Given the description of an element on the screen output the (x, y) to click on. 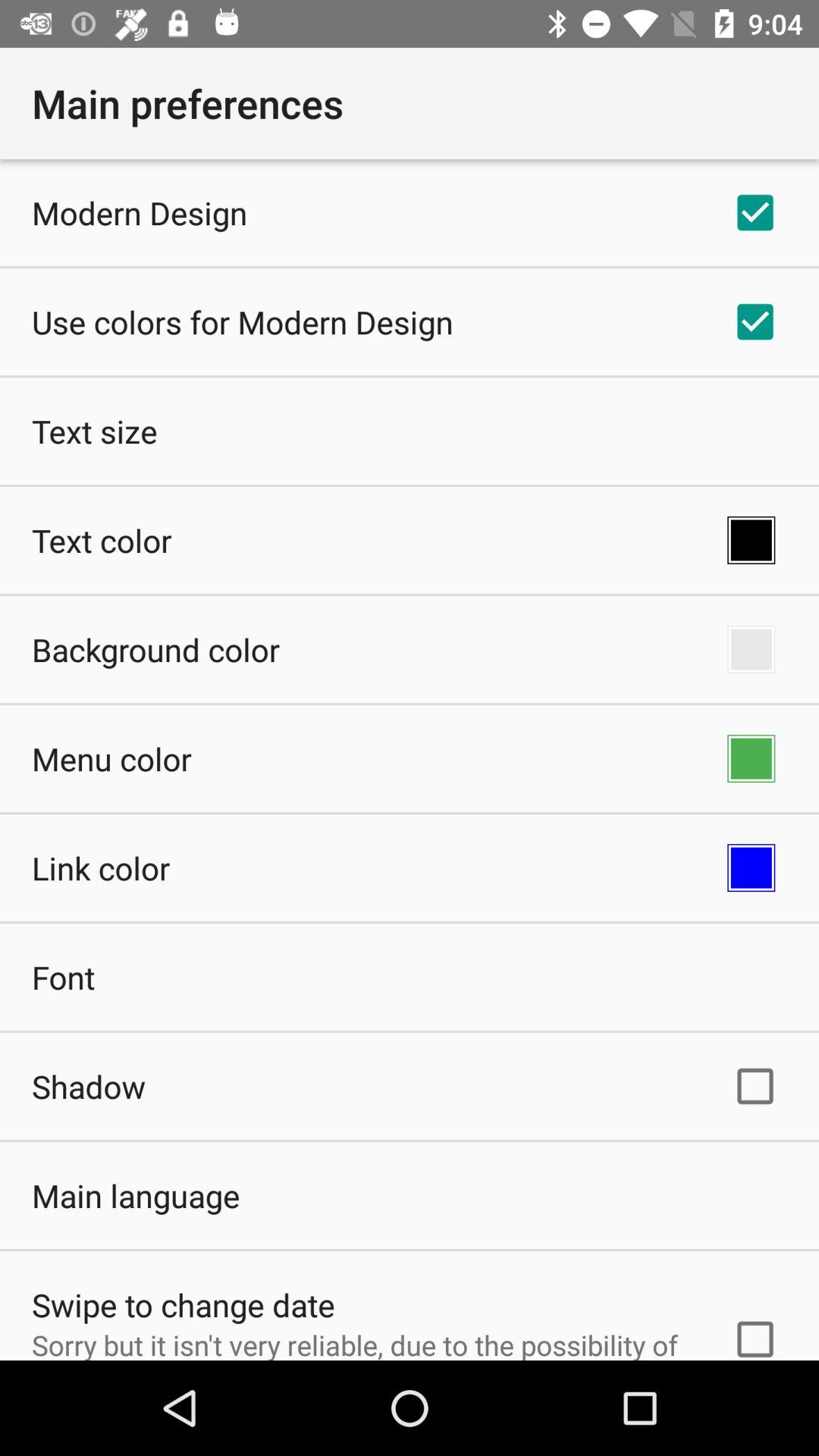
turn on icon below font item (88, 1085)
